Given the description of an element on the screen output the (x, y) to click on. 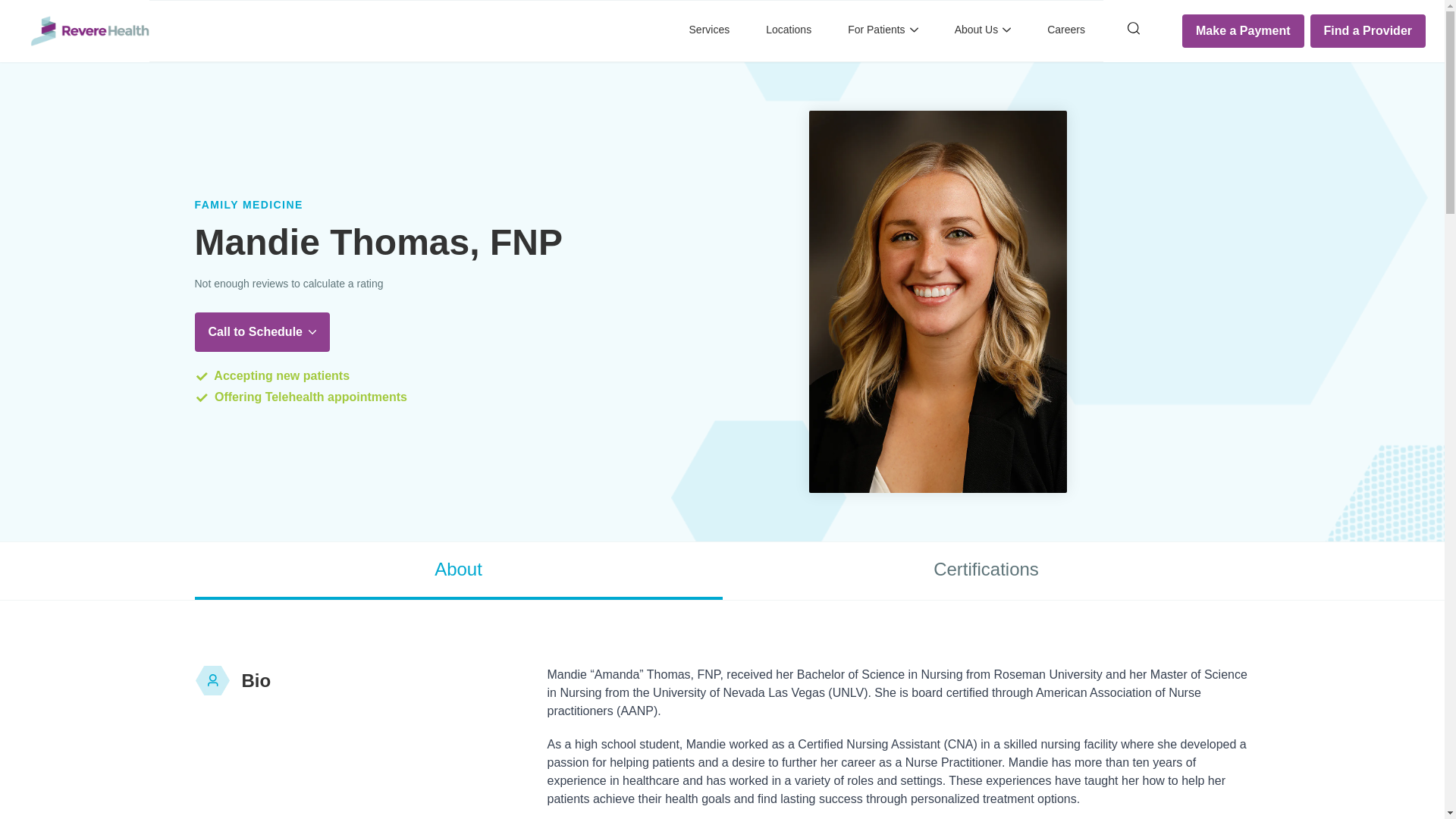
Make a Payment (1243, 30)
For Patients (882, 30)
About Us (983, 30)
Find a Provider (1367, 30)
Call to Schedule (261, 332)
